Given the description of an element on the screen output the (x, y) to click on. 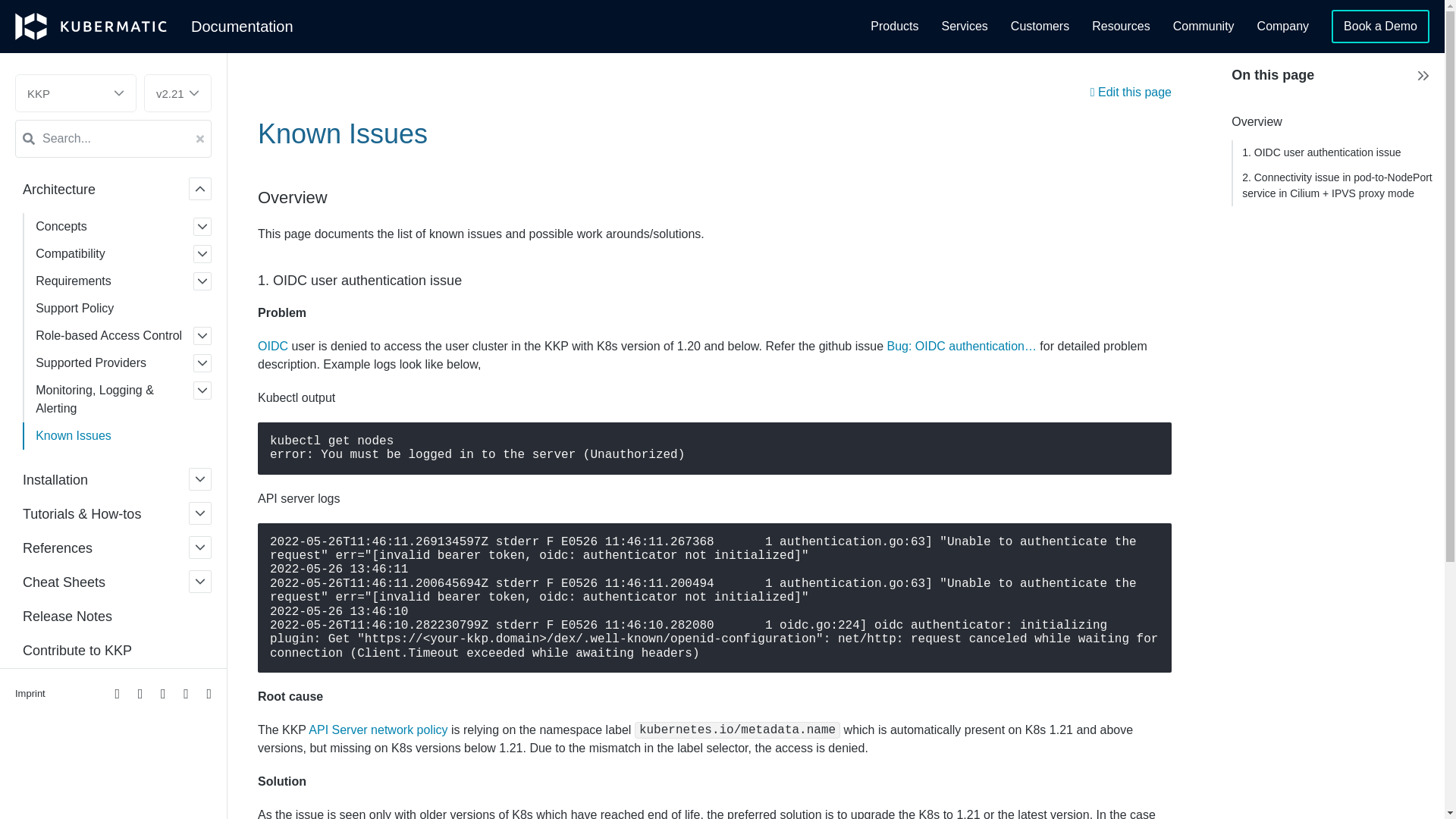
Documentation (242, 26)
Concepts (125, 225)
Products (894, 26)
Compatibility (125, 252)
